Given the description of an element on the screen output the (x, y) to click on. 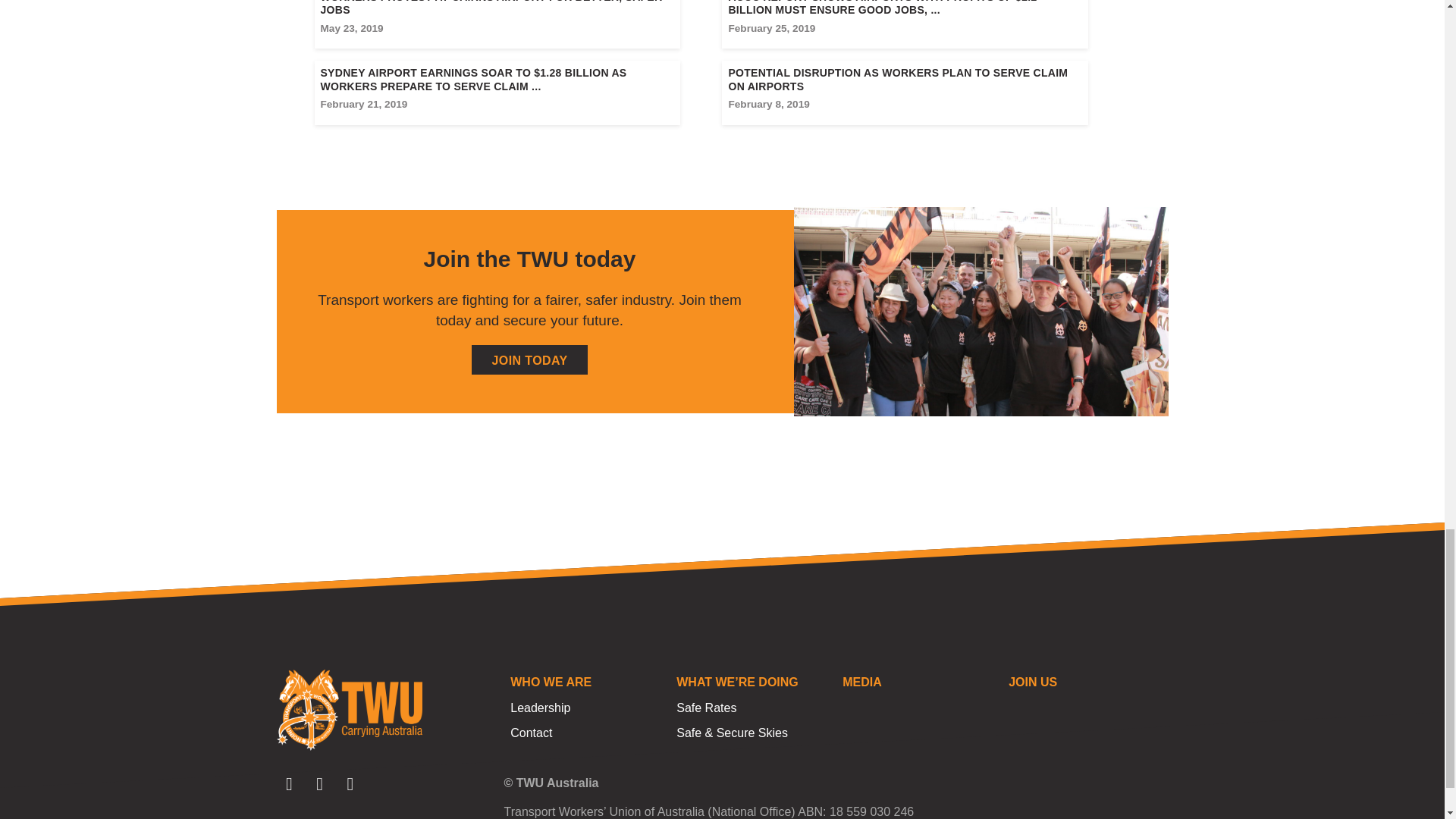
JOIN US (1084, 682)
JOIN TODAY (528, 359)
MEDIA (918, 682)
Safe Rates (752, 708)
Leadership (586, 708)
Contact (586, 733)
WHO WE ARE (586, 682)
